Given the description of an element on the screen output the (x, y) to click on. 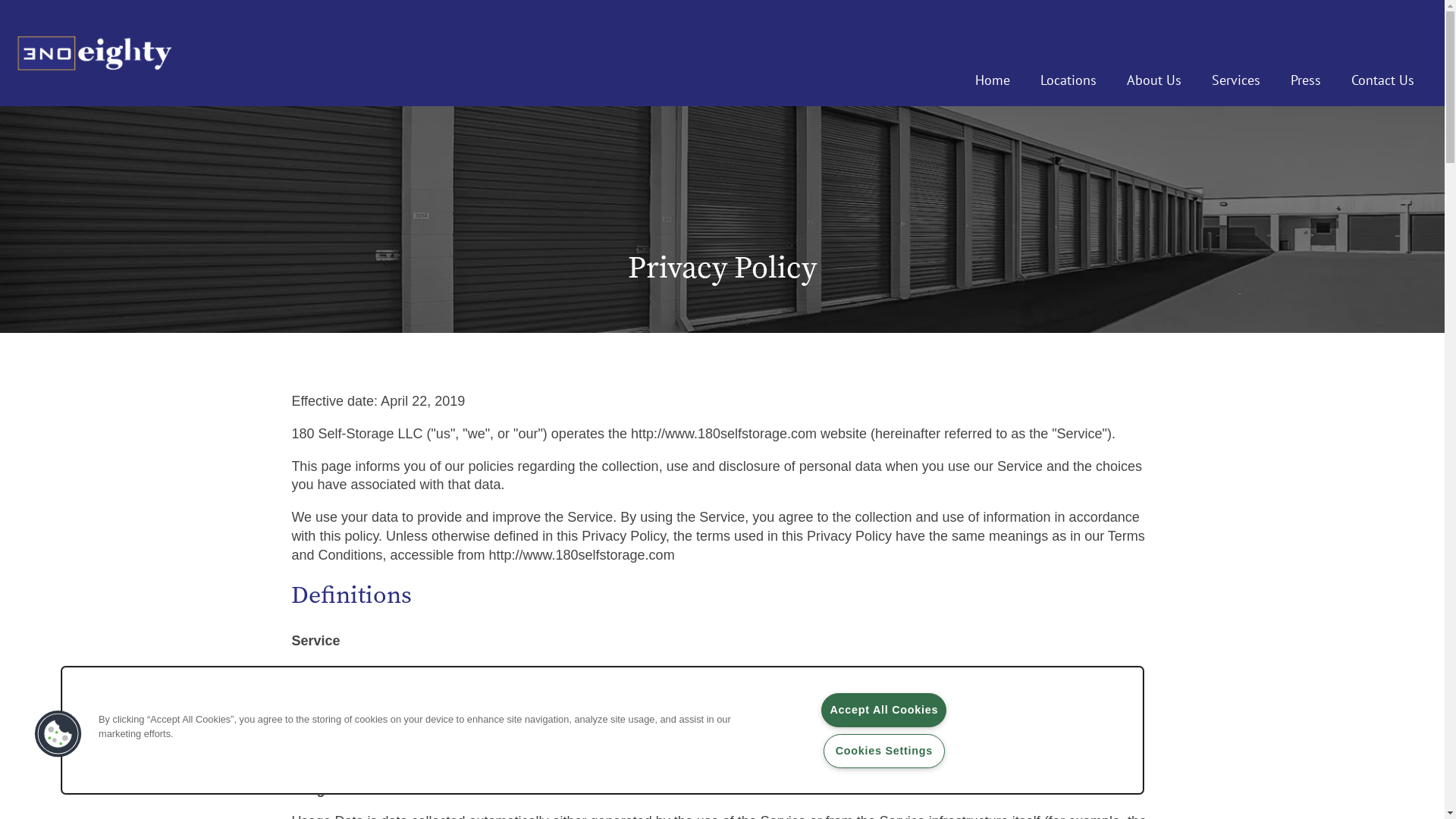
Contact Us Element type: text (1382, 79)
Home Element type: text (992, 79)
About Us Element type: text (1153, 79)
Cookies Button Element type: text (58, 733)
Services Element type: text (1235, 79)
Press Element type: text (1305, 79)
Locations Element type: text (1068, 79)
Cookies Settings Element type: text (883, 751)
Accept All Cookies Element type: text (883, 710)
